Given the description of an element on the screen output the (x, y) to click on. 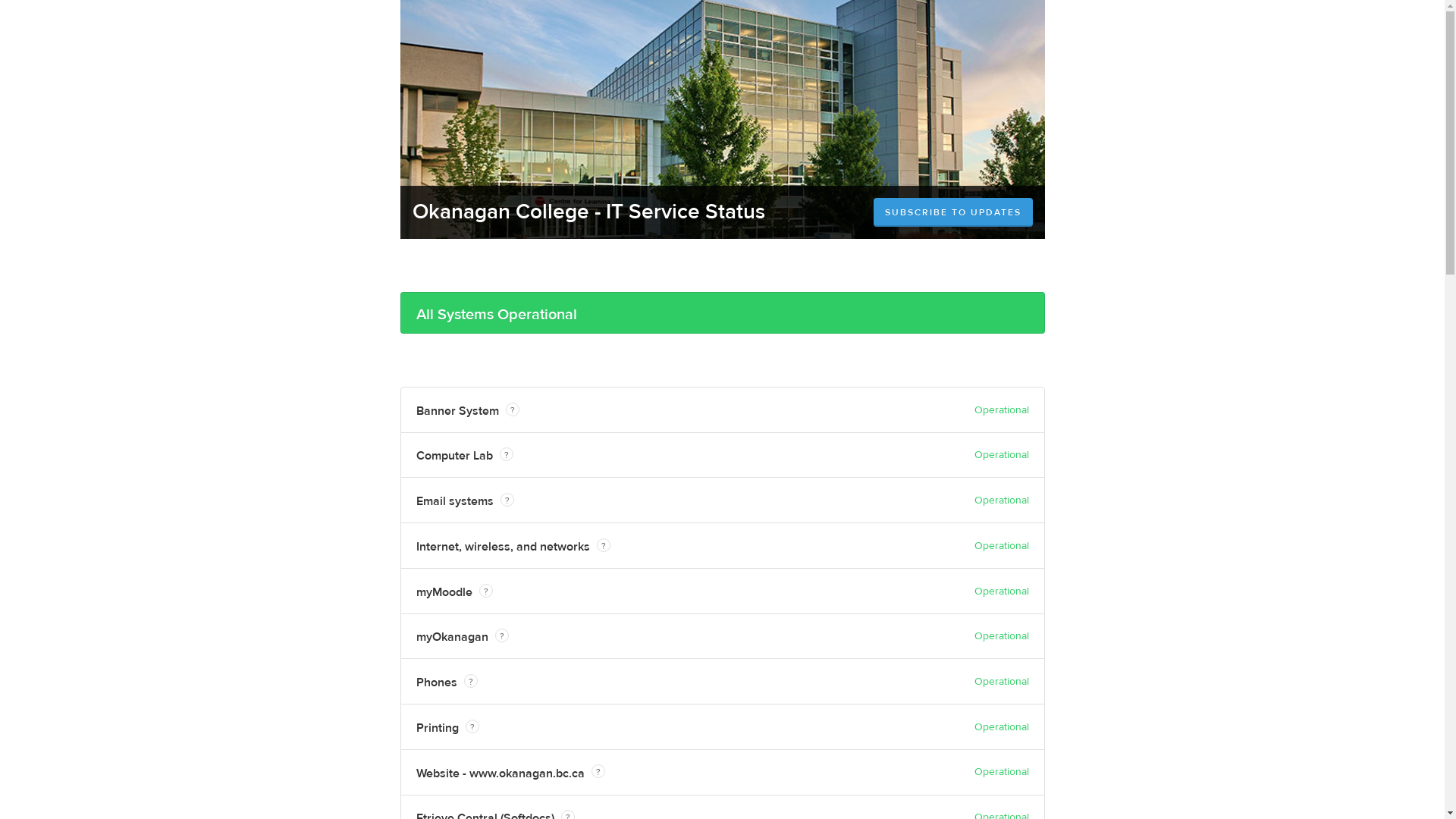
Okanagan College - IT Service Status Element type: text (588, 211)
